Given the description of an element on the screen output the (x, y) to click on. 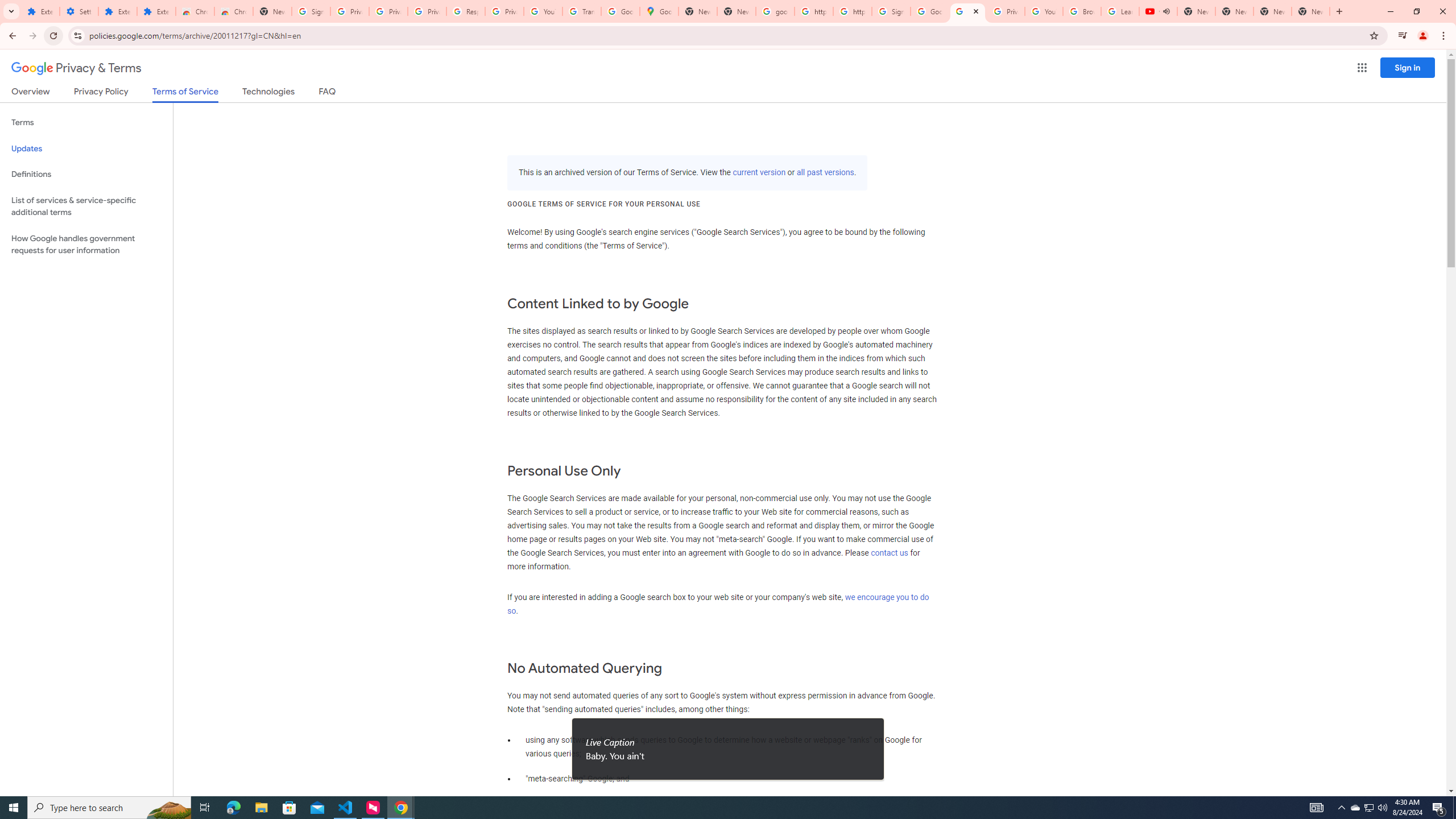
all past versions (825, 172)
Extensions (40, 11)
we encourage you to do so (717, 603)
New Tab (272, 11)
contact us (889, 552)
https://scholar.google.com/ (813, 11)
